Given the description of an element on the screen output the (x, y) to click on. 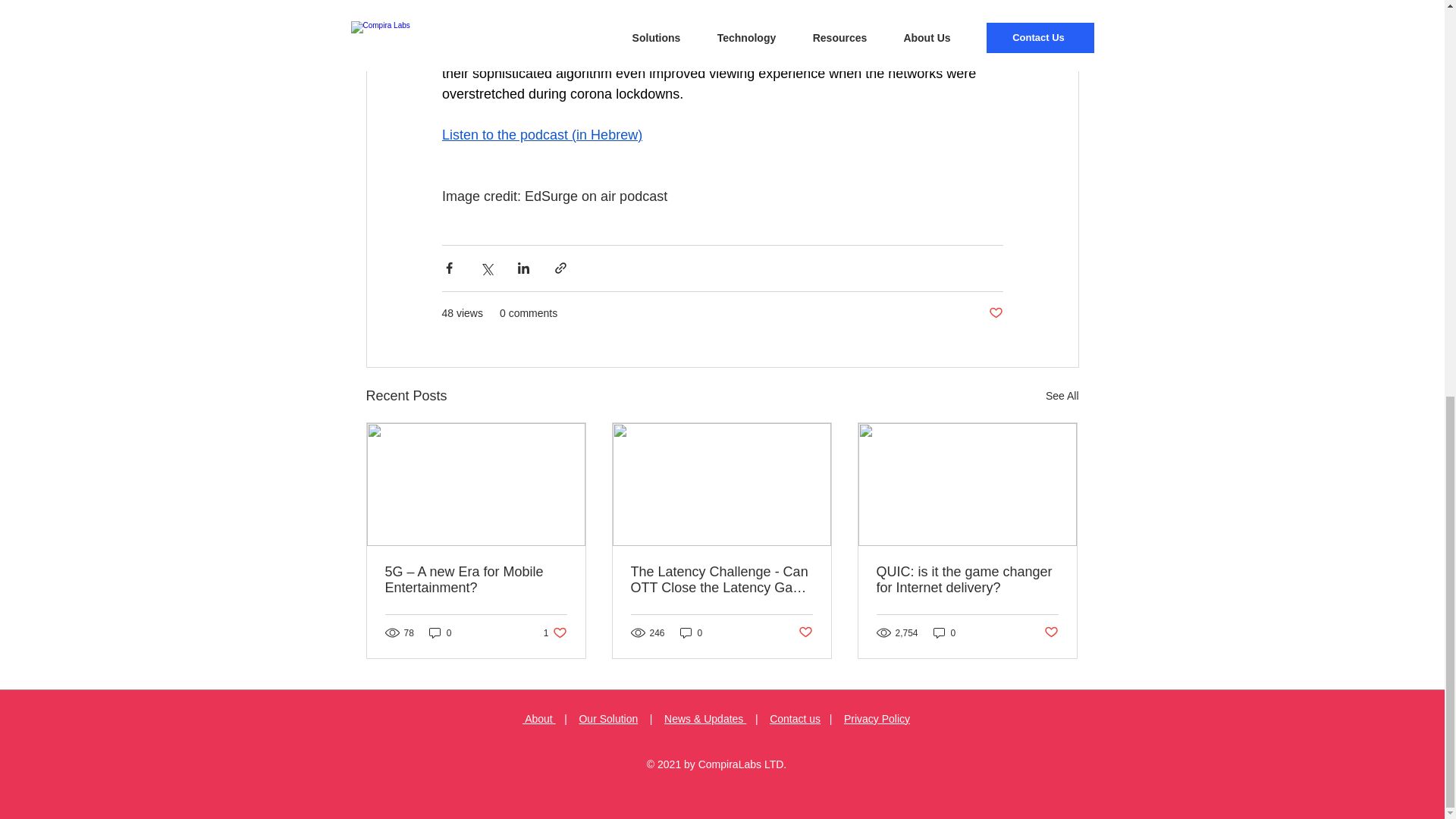
Post not marked as liked (804, 632)
Contact us (795, 718)
Post not marked as liked (995, 313)
QUIC: is it the game changer for Internet delivery? (967, 580)
See All (1061, 395)
 About  (539, 718)
0 (944, 632)
Post not marked as liked (1050, 632)
0 (691, 632)
0 (555, 632)
Our Solution (440, 632)
